Given the description of an element on the screen output the (x, y) to click on. 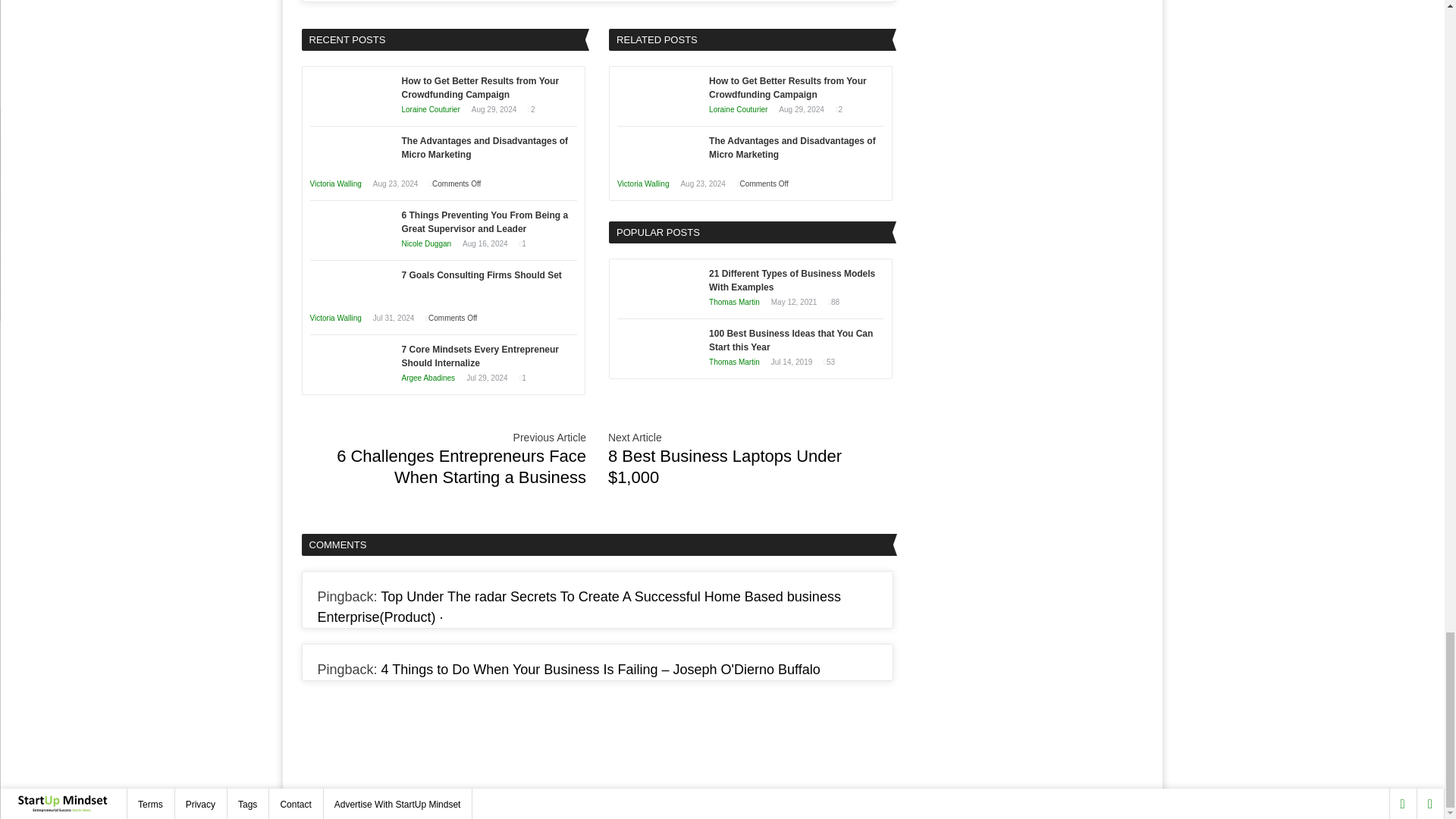
Posts by Victoria Walling (334, 317)
Posts by Thomas Martin (734, 361)
Posts by Victoria Walling (334, 183)
Posts by Nicole Duggan (426, 243)
Posts by Loraine Couturier (738, 109)
Posts by Loraine Couturier (430, 109)
Posts by Thomas Martin (734, 302)
Posts by Victoria Walling (642, 183)
Posts by Argee Abadines (428, 377)
